Given the description of an element on the screen output the (x, y) to click on. 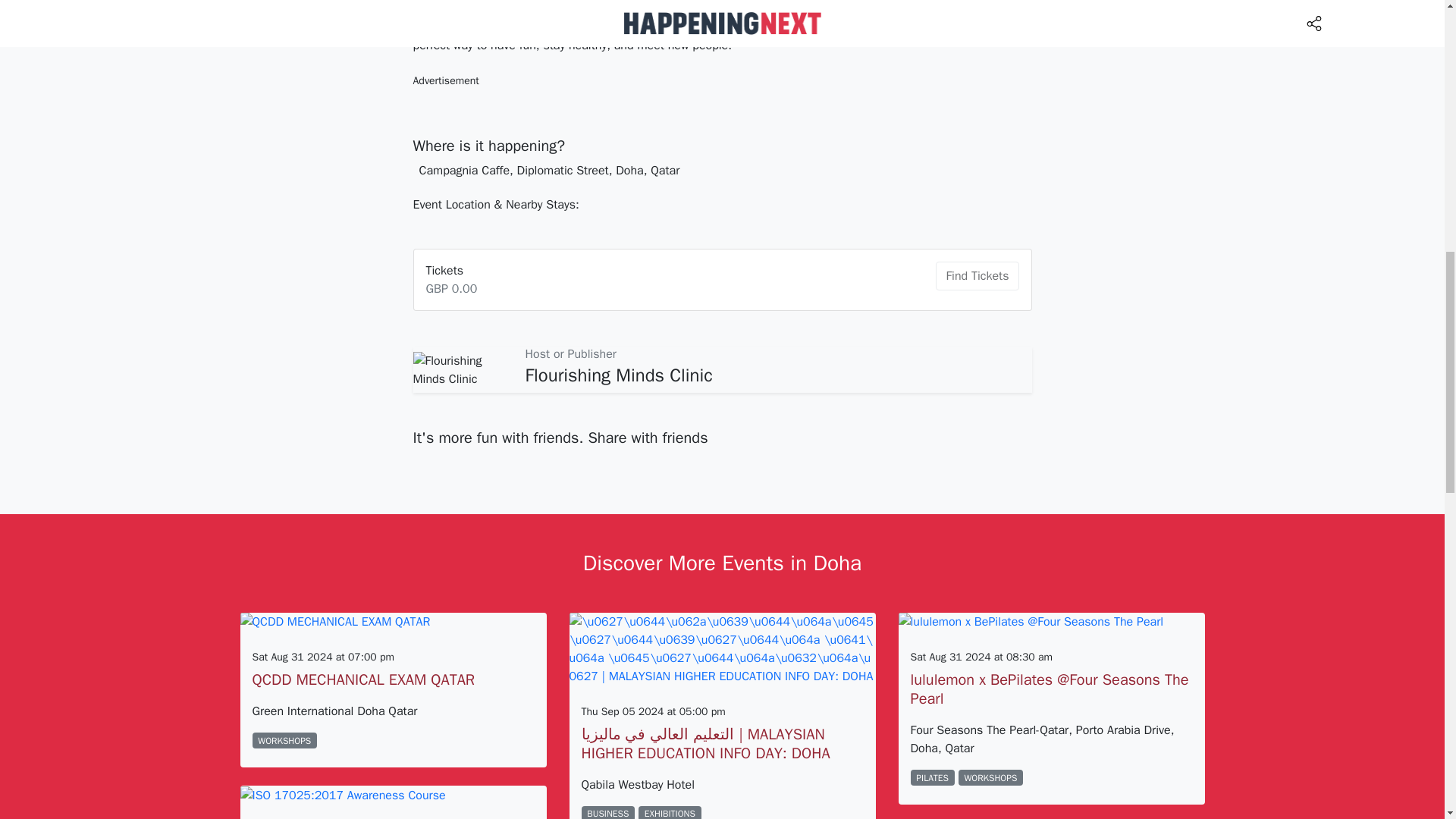
QCDD MECHANICAL EXAM QATAR (393, 621)
QCDD MECHANICAL EXAM QATAR (362, 679)
   ISO 17025:2017 Awareness Course  (393, 794)
QCDD MECHANICAL EXAM QATAR (362, 679)
Find Tickets (976, 275)
